Given the description of an element on the screen output the (x, y) to click on. 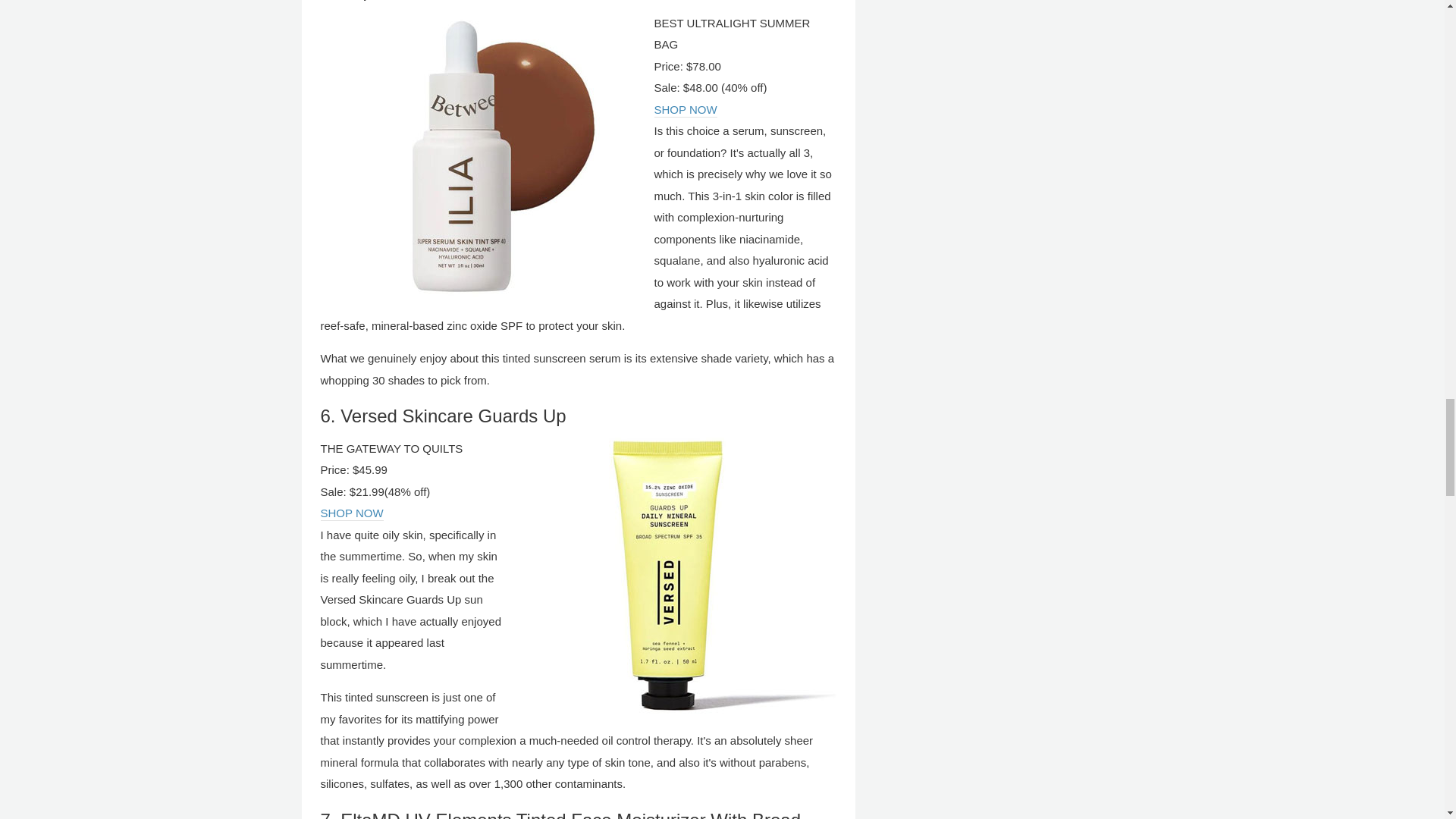
SHOP NOW (684, 110)
SHOP NOW (351, 513)
SHOP NOW (684, 110)
SHOP NOW (351, 513)
